Given the description of an element on the screen output the (x, y) to click on. 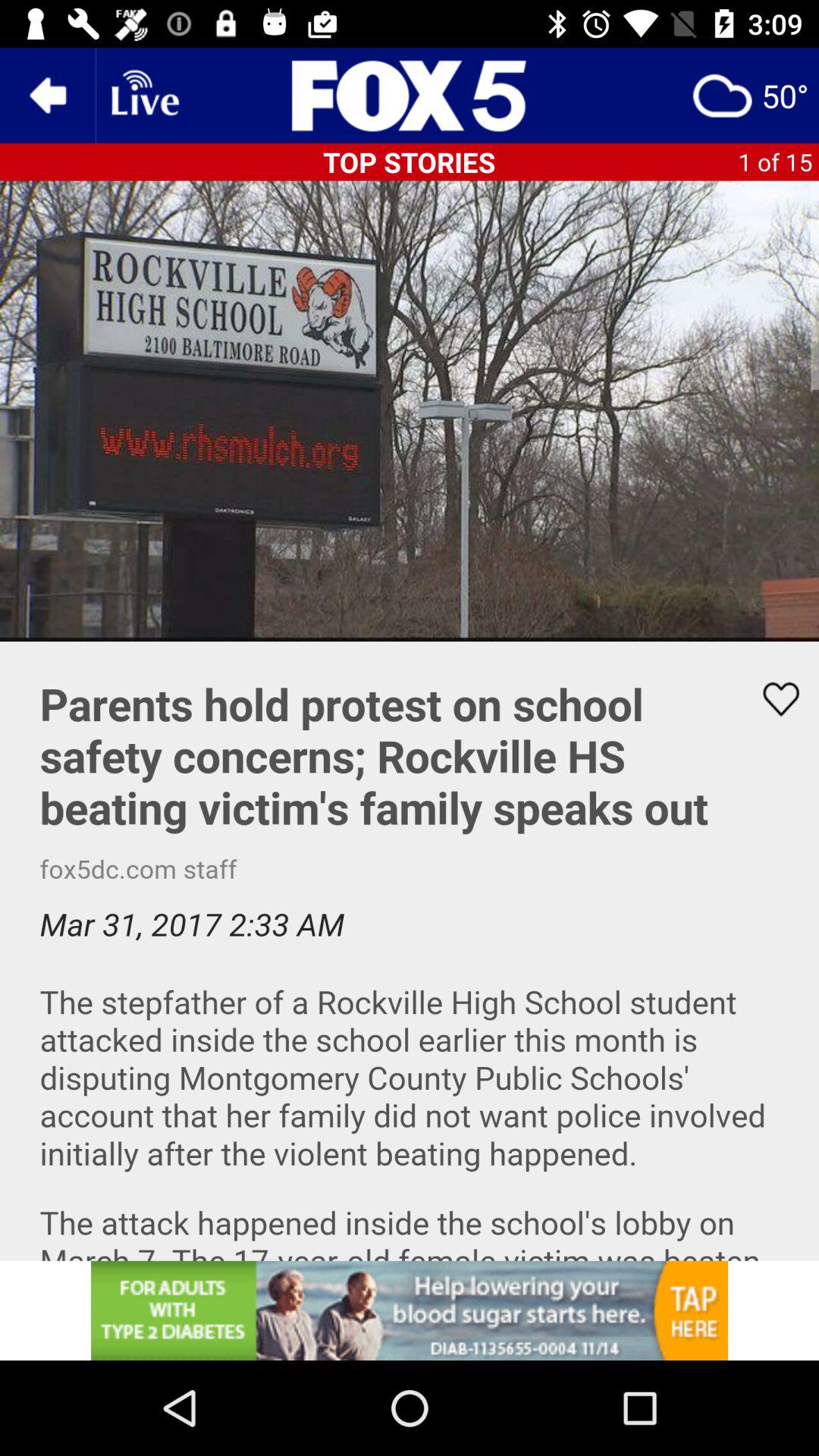
toggle favorites option (771, 699)
